Given the description of an element on the screen output the (x, y) to click on. 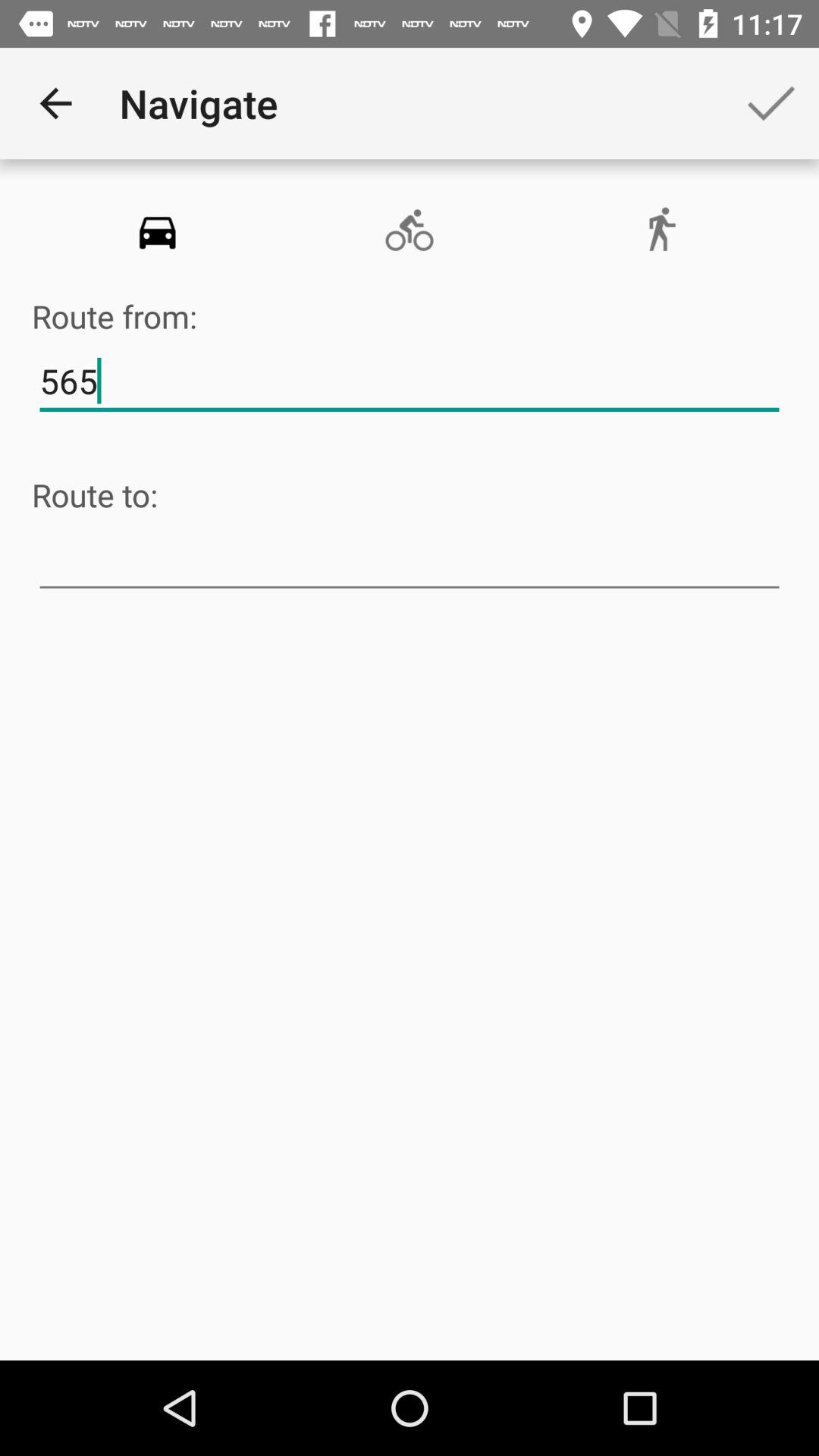
press the app next to the navigate app (771, 103)
